Given the description of an element on the screen output the (x, y) to click on. 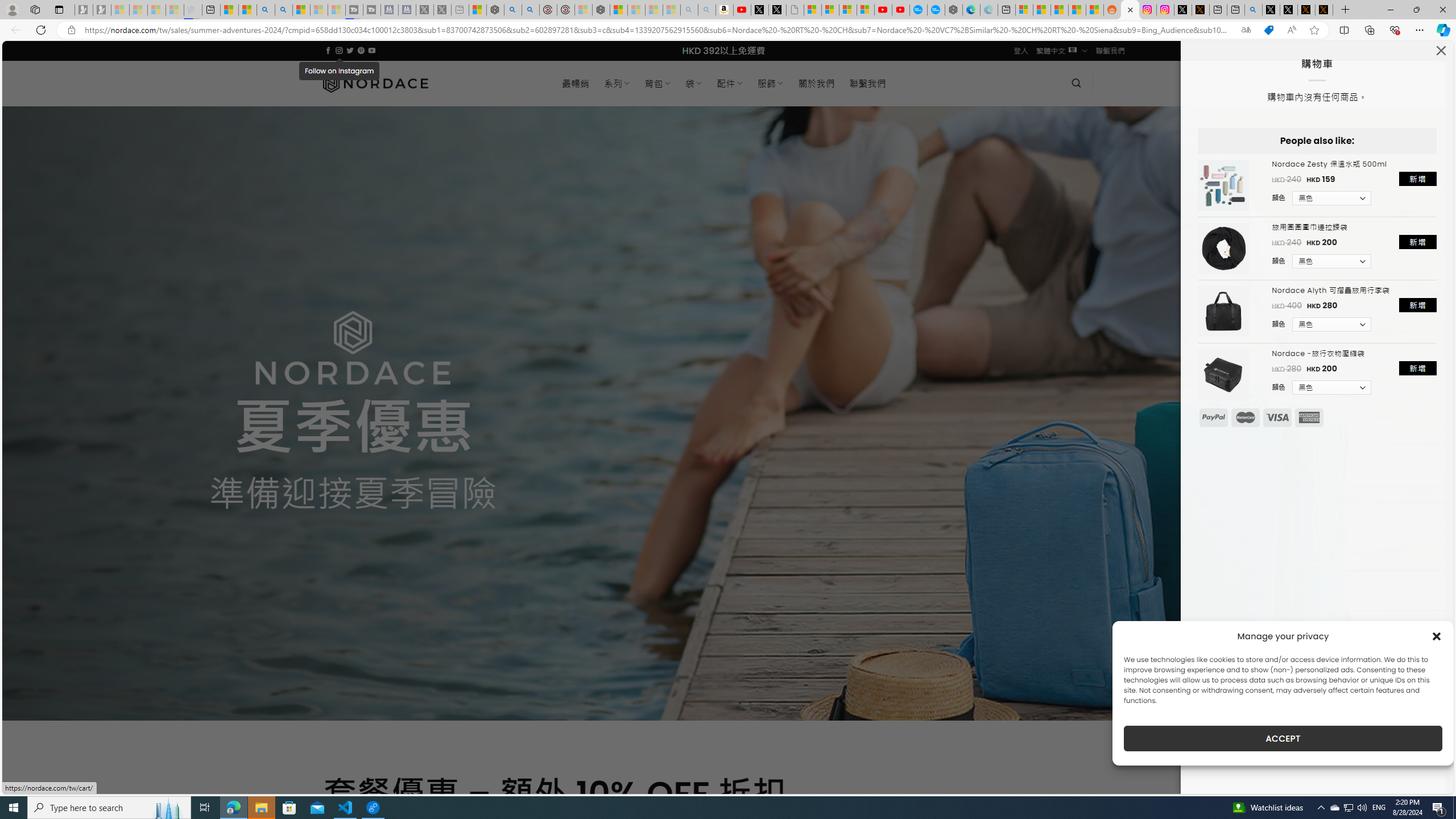
X Privacy Policy (1324, 9)
Shanghai, China hourly forecast | Microsoft Weather (1059, 9)
